Given the description of an element on the screen output the (x, y) to click on. 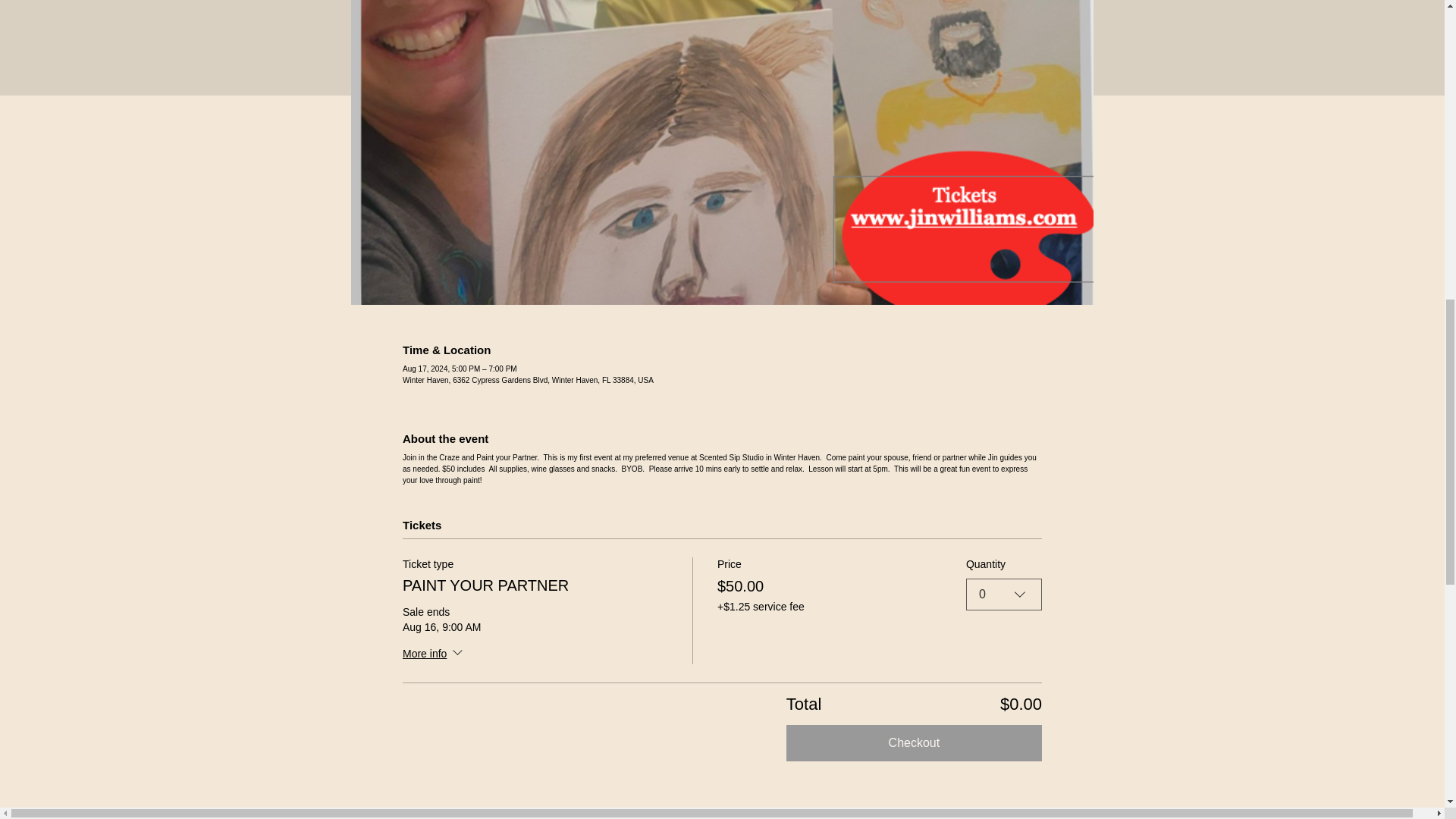
Checkout (914, 742)
0 (1004, 593)
More info (434, 654)
